Given the description of an element on the screen output the (x, y) to click on. 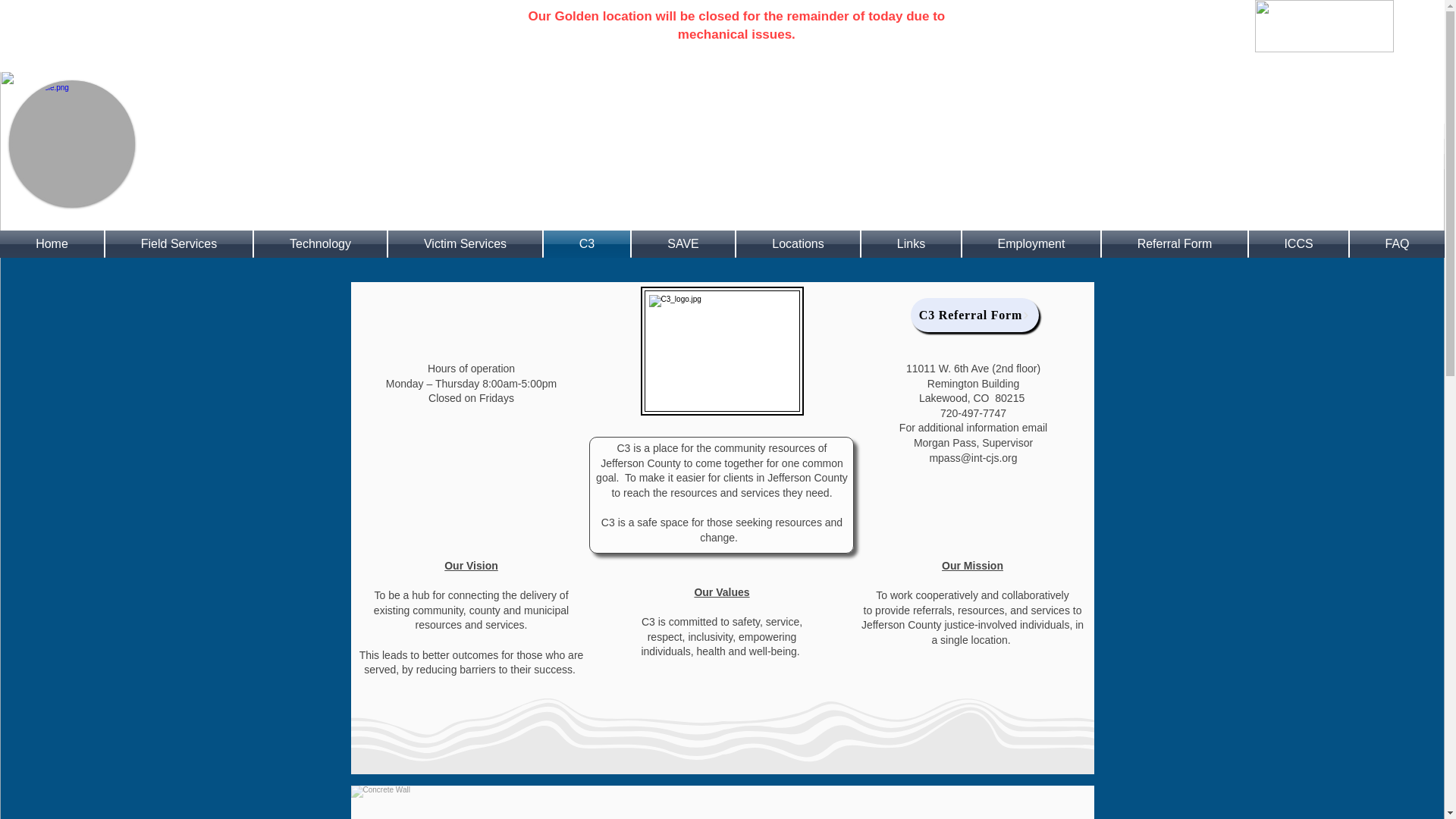
C3 (586, 243)
Technology (320, 243)
ICCS (1298, 243)
Make Online Payments (1324, 26)
C3 Referral Form (974, 315)
Home (52, 243)
Victim Services (465, 243)
Links (910, 243)
Locations (797, 243)
SAVE (682, 243)
